Given the description of an element on the screen output the (x, y) to click on. 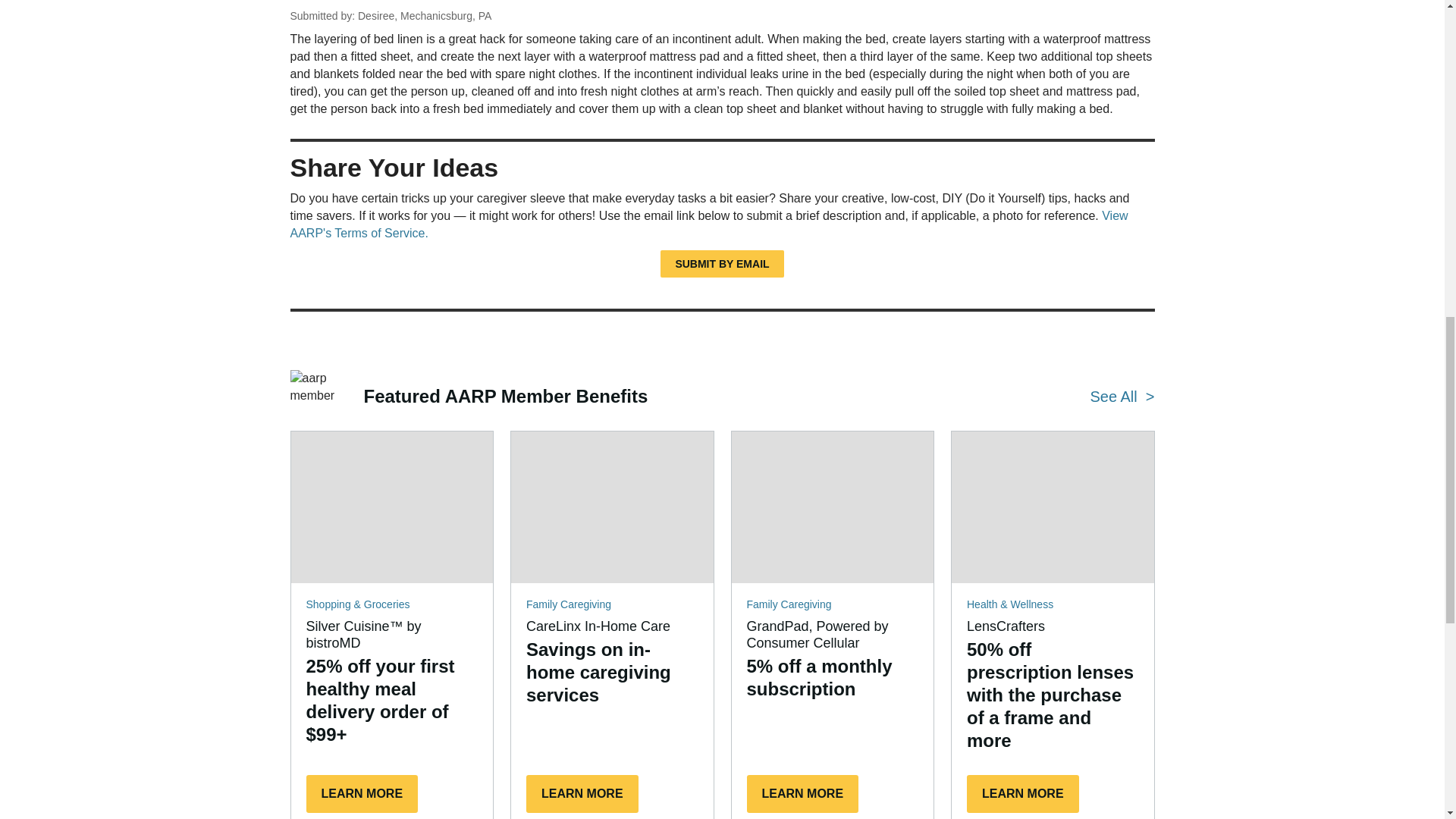
GrandPad, Powered by Consumer Cellular (831, 507)
CareLinx In-Home Care (612, 507)
LensCrafters (1053, 507)
